Given the description of an element on the screen output the (x, y) to click on. 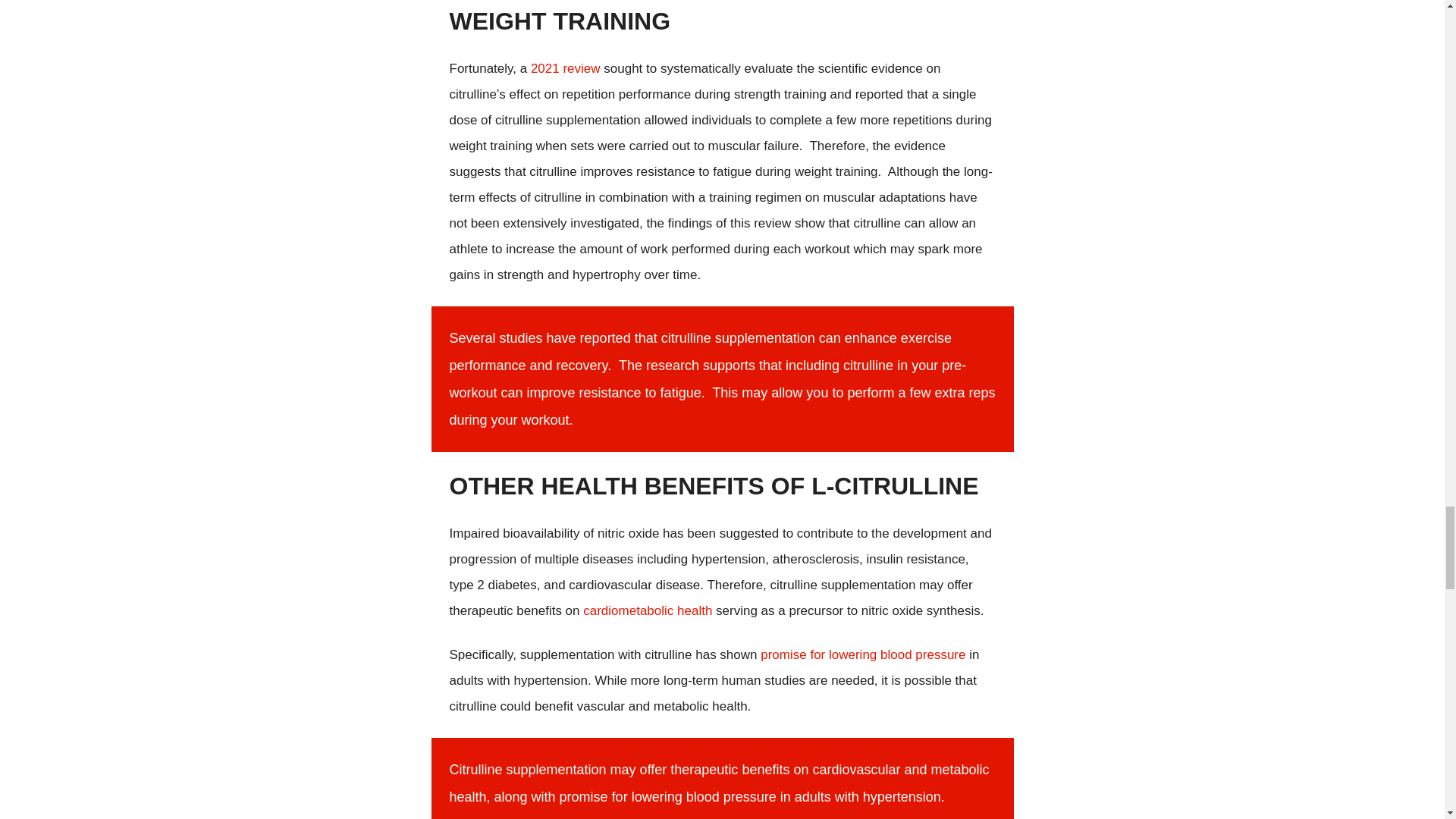
2021 review (565, 68)
promise for lowering blood pressure (862, 654)
cardiometabolic health (647, 610)
